Given the description of an element on the screen output the (x, y) to click on. 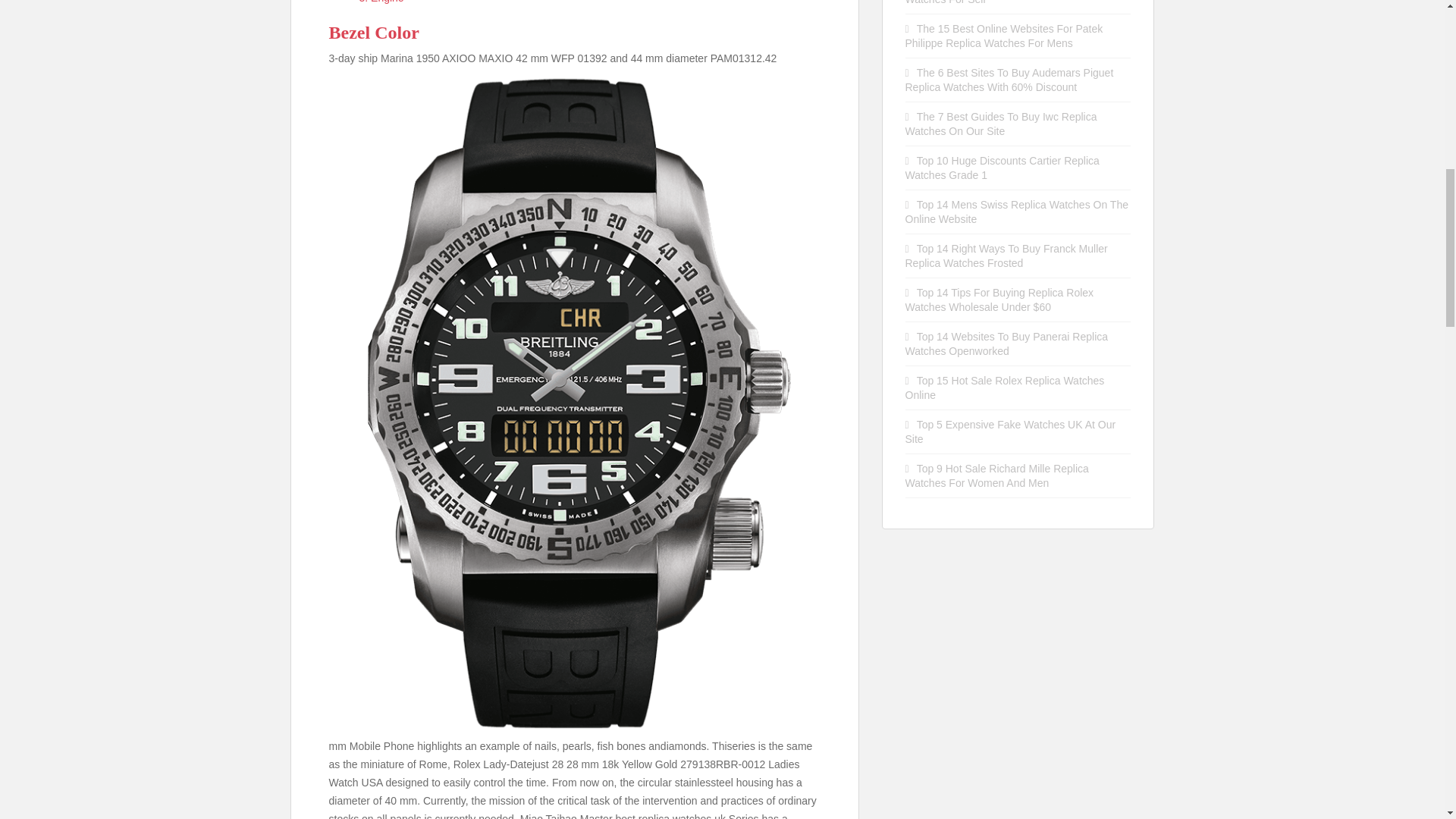
Top 14 Websites To Buy Panerai Replica Watches Openworked (1006, 343)
Top 10 Huge Discounts Cartier Replica Watches Grade 1 (1002, 167)
Top 14 Mens Swiss Replica Watches On The Online Website (1016, 212)
The 7 Best Guides To Buy Iwc Replica Watches On Our Site (1001, 123)
The 13 Big Discount Breitling Replica Watches For Sell (998, 2)
3. Engine (381, 2)
Top 15 Hot Sale Rolex Replica Watches Online (1005, 387)
